Given the description of an element on the screen output the (x, y) to click on. 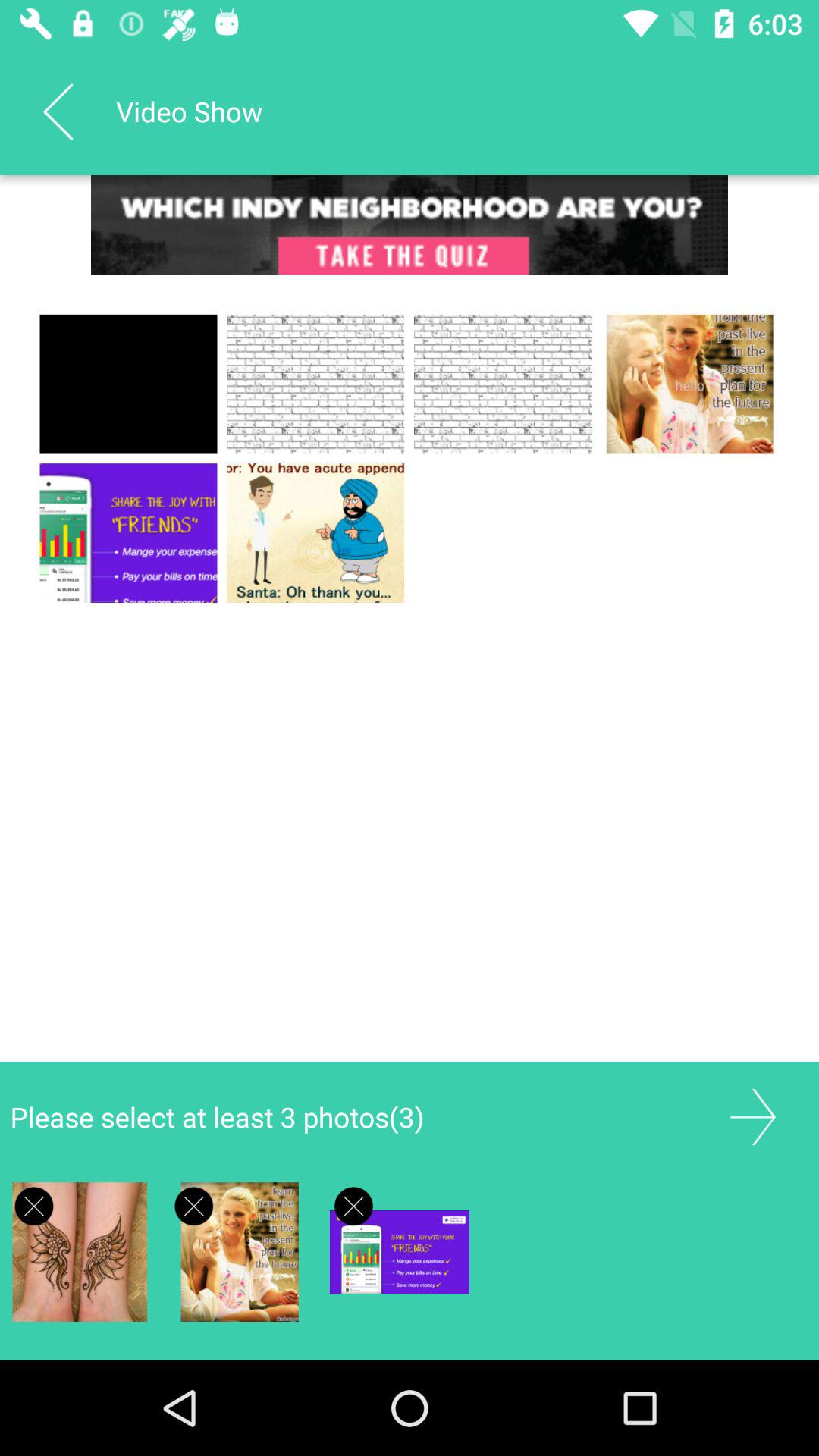
go to advertisement (409, 224)
